Given the description of an element on the screen output the (x, y) to click on. 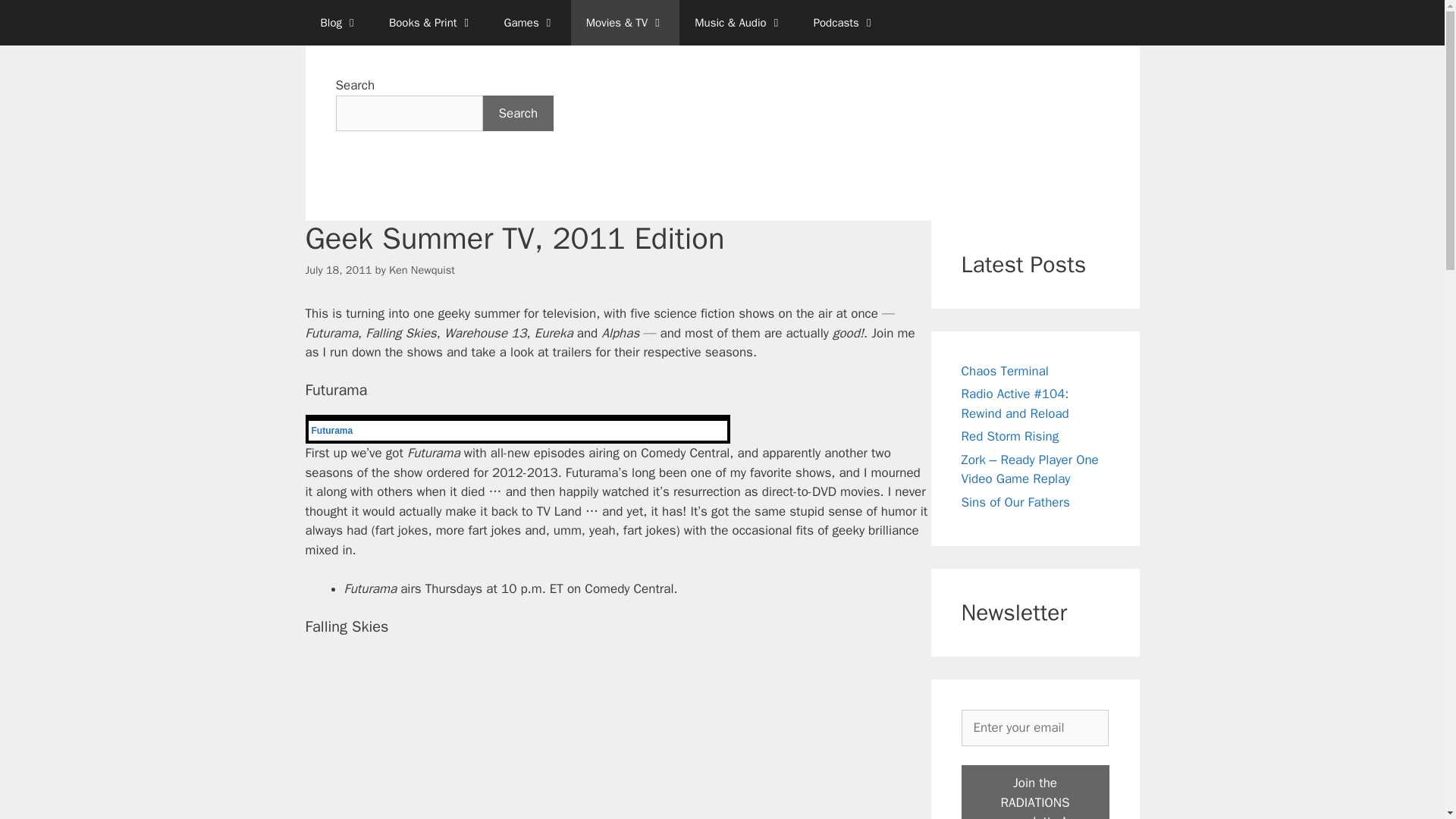
Search (517, 113)
Ken Newquist (421, 269)
Podcasts (844, 22)
Futurama (331, 430)
Enter your email (1034, 728)
Blog (338, 22)
Games (529, 22)
View all posts by Ken Newquist (421, 269)
